Given the description of an element on the screen output the (x, y) to click on. 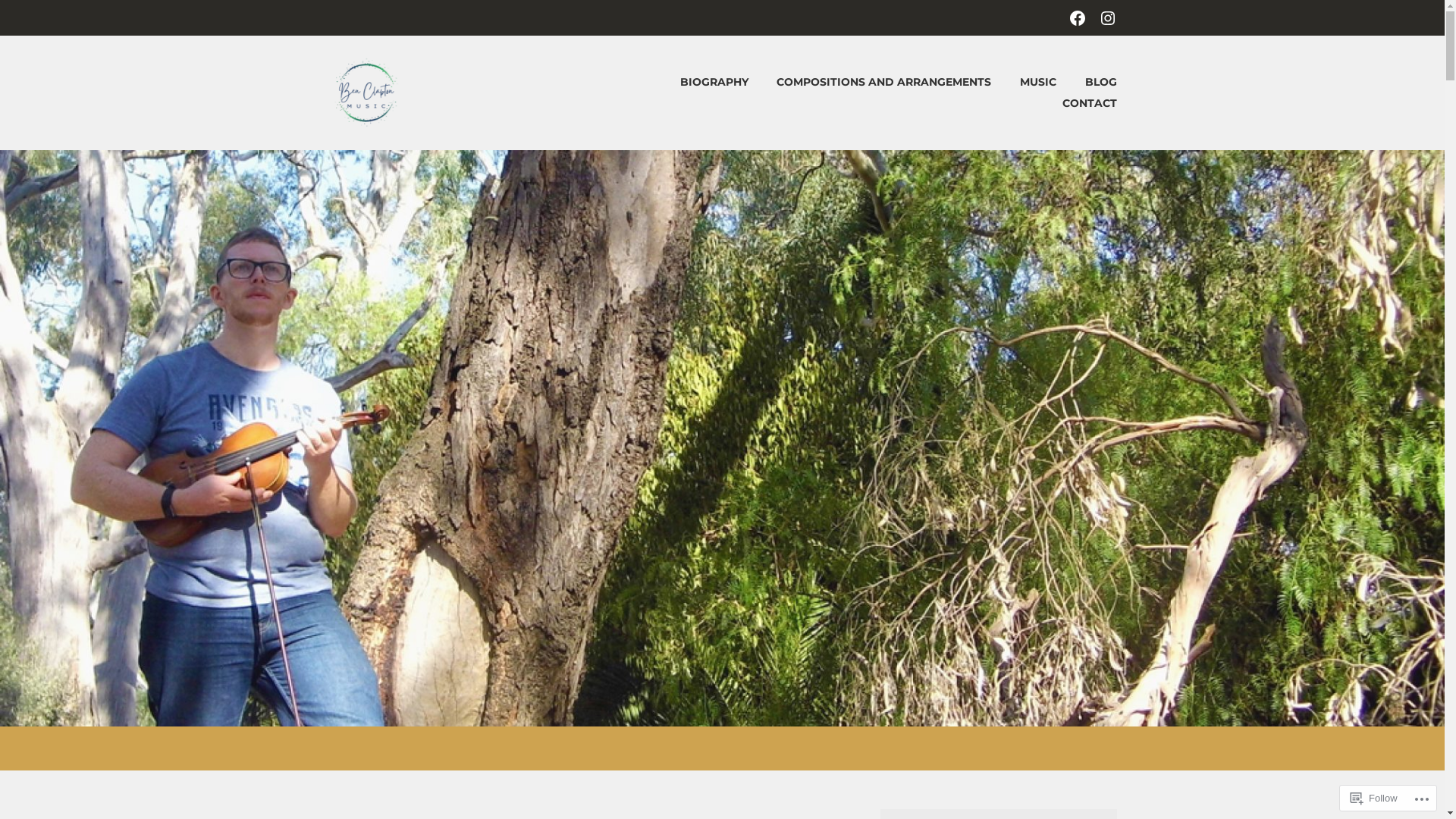
Follow Element type: text (1373, 797)
BEN CLAPTON Element type: text (528, 69)
Search Element type: text (49, 17)
CONTACT Element type: text (1076, 102)
COMPOSITIONS AND ARRANGEMENTS Element type: text (871, 81)
MUSIC Element type: text (1025, 81)
BLOG Element type: text (1088, 81)
BIOGRAPHY Element type: text (701, 81)
